Given the description of an element on the screen output the (x, y) to click on. 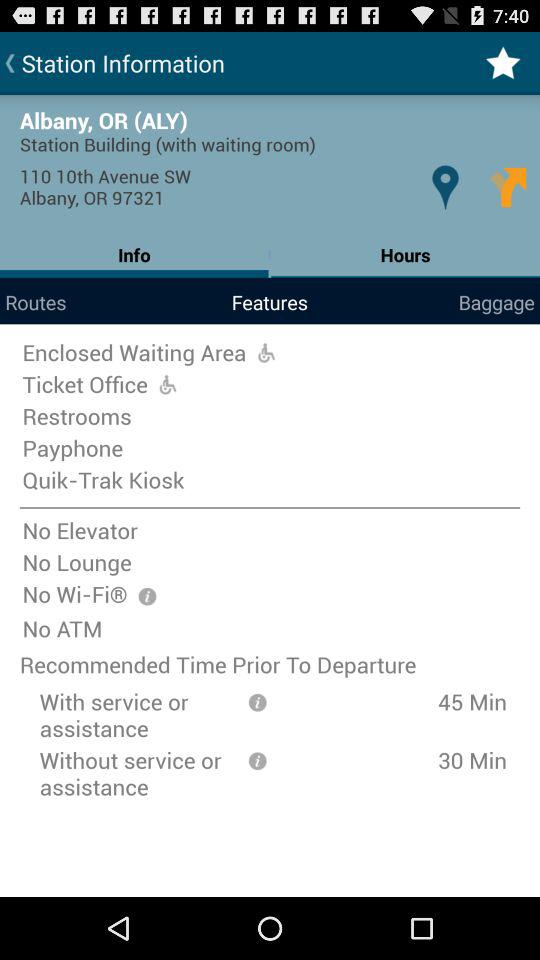
because back devicer (257, 700)
